Given the description of an element on the screen output the (x, y) to click on. 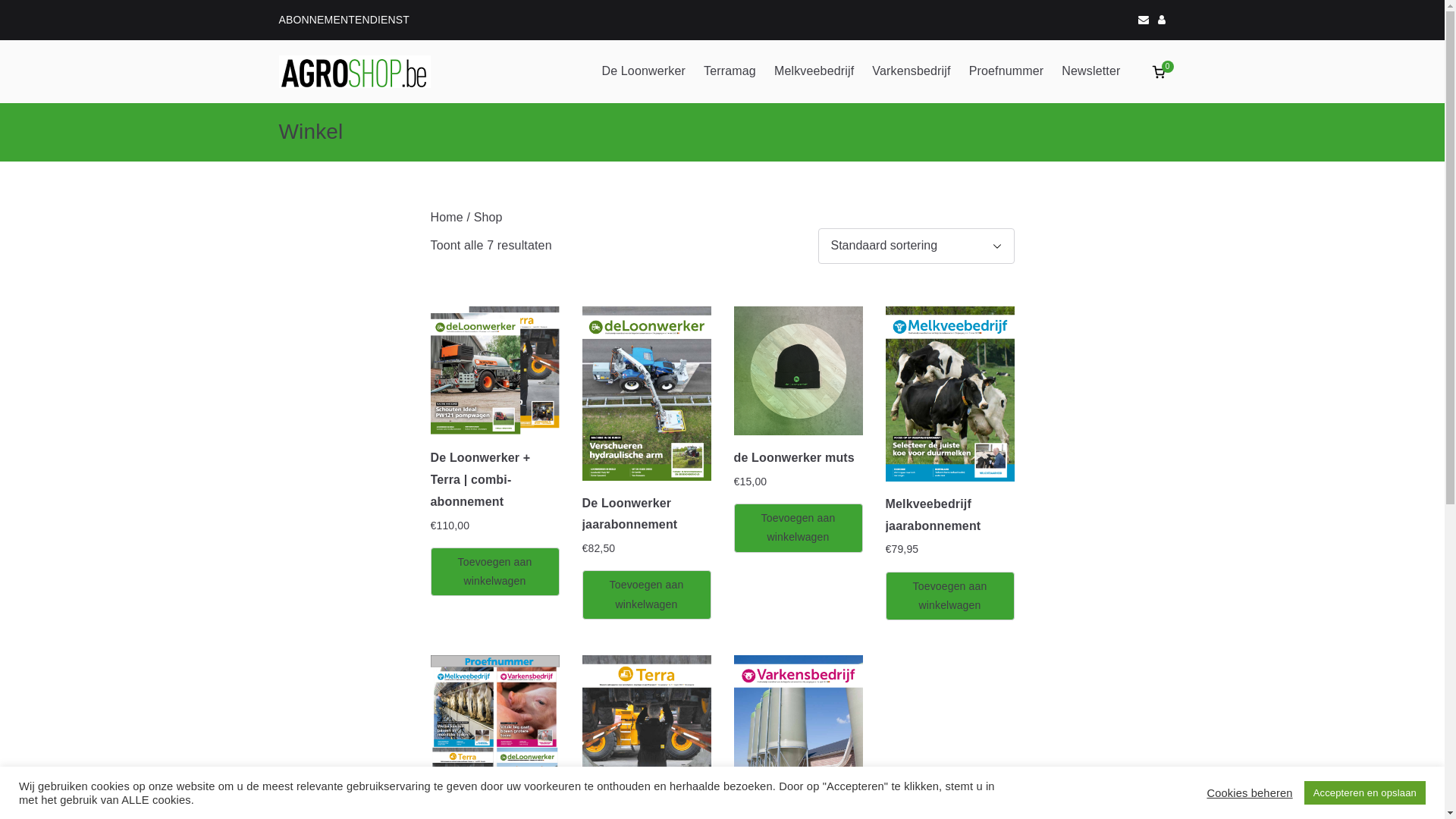
Proefnummer Element type: text (1006, 71)
Accepteren en opslaan Element type: text (1364, 792)
ABONNEMENTENDIENST Element type: text (344, 19)
0 Element type: text (1158, 71)
Toevoegen aan winkelwagen Element type: text (494, 571)
De Loonwerker Element type: text (643, 71)
Cookies beheren Element type: text (1249, 792)
Varkensbedrijf Element type: text (911, 71)
Melkveebedrijf Element type: text (813, 71)
Newsletter Element type: text (1090, 71)
Toevoegen aan winkelwagen Element type: text (646, 594)
Home Element type: text (446, 216)
Terramag Element type: text (729, 71)
Agroshop Element type: text (517, 91)
Toevoegen aan winkelwagen Element type: text (798, 527)
Toevoegen aan winkelwagen Element type: text (949, 595)
